Given the description of an element on the screen output the (x, y) to click on. 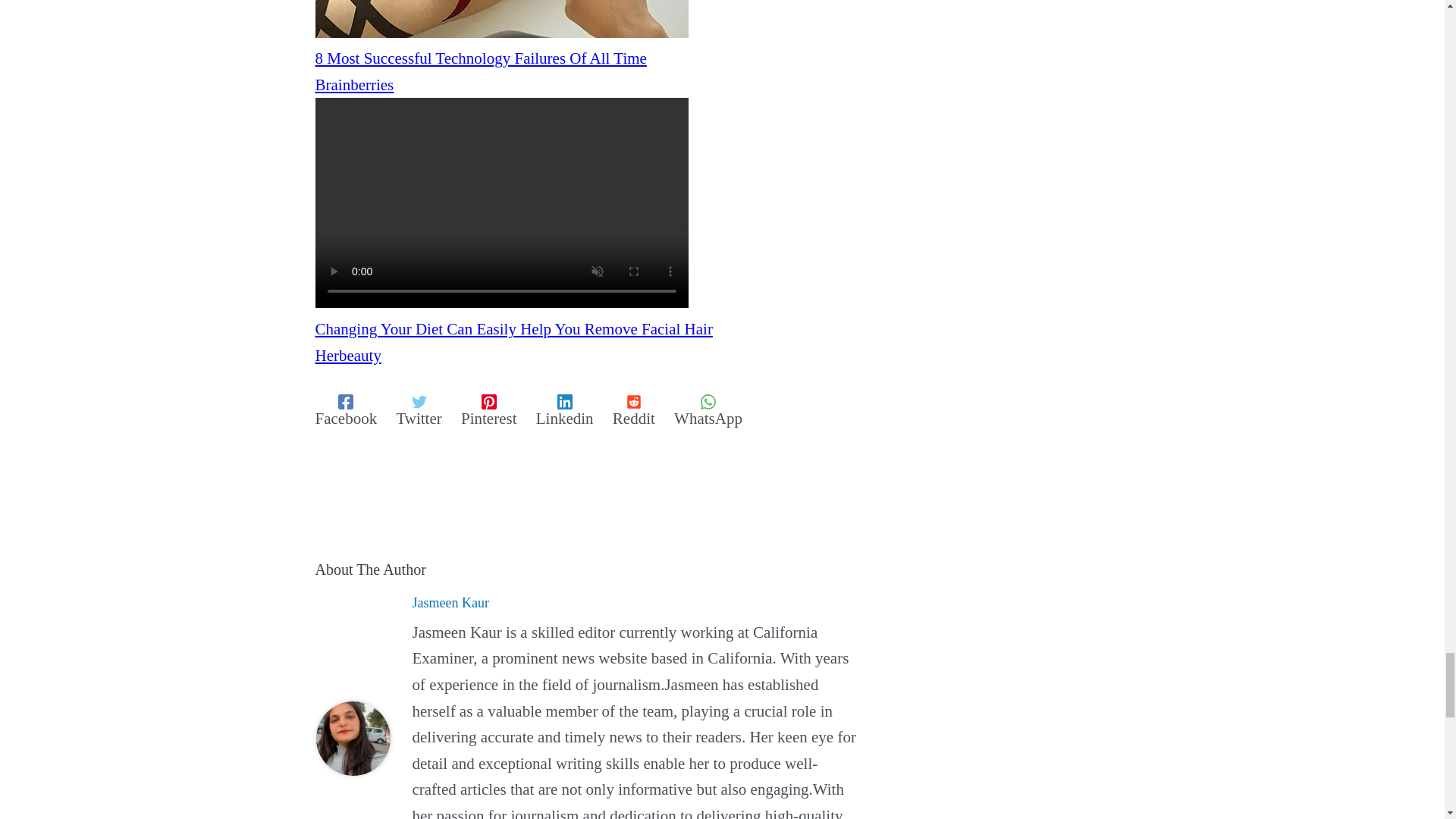
Linkedin (564, 409)
Pinterest (488, 409)
Reddit (633, 409)
Facebook (346, 409)
Twitter (418, 409)
